Given the description of an element on the screen output the (x, y) to click on. 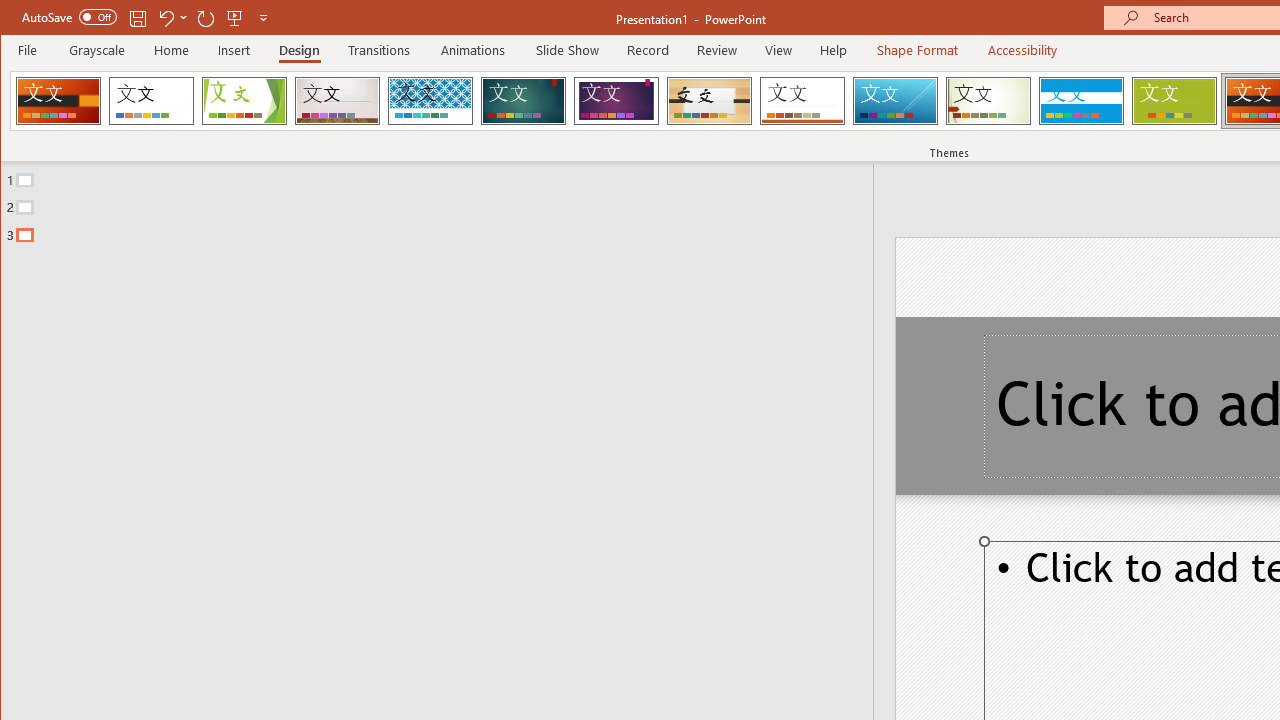
Organic (709, 100)
Office Theme (151, 100)
Basis (1174, 100)
Ion Boardroom (616, 100)
